Given the description of an element on the screen output the (x, y) to click on. 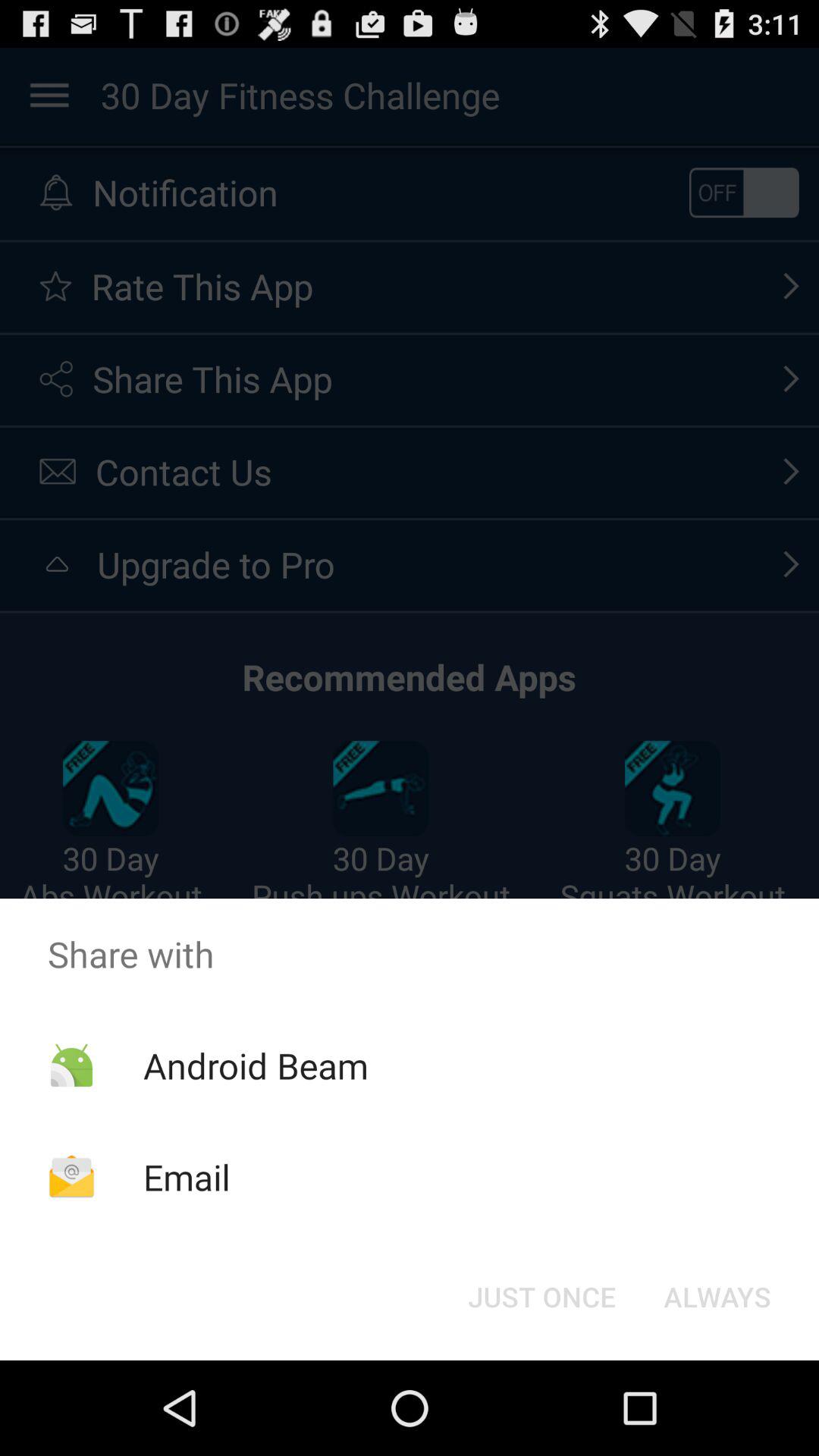
jump to the email (186, 1176)
